Given the description of an element on the screen output the (x, y) to click on. 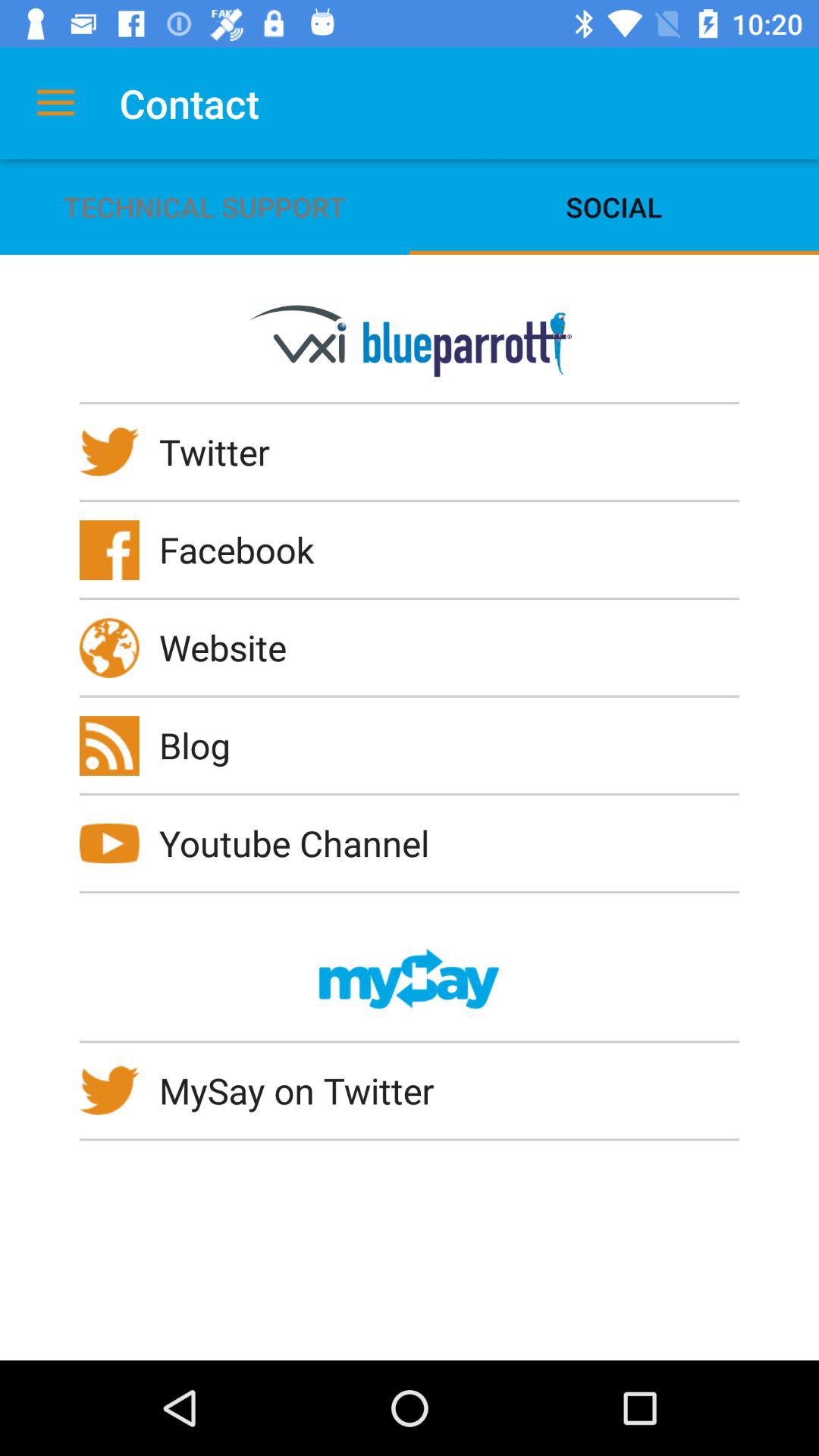
turn off icon to the left of the contact app (55, 103)
